Given the description of an element on the screen output the (x, y) to click on. 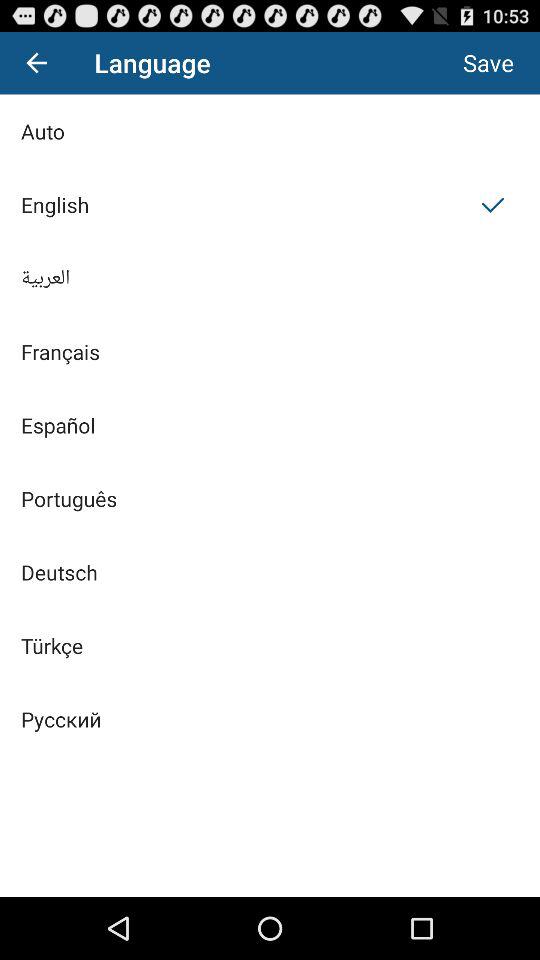
click  the button beside english (492, 204)
